Given the description of an element on the screen output the (x, y) to click on. 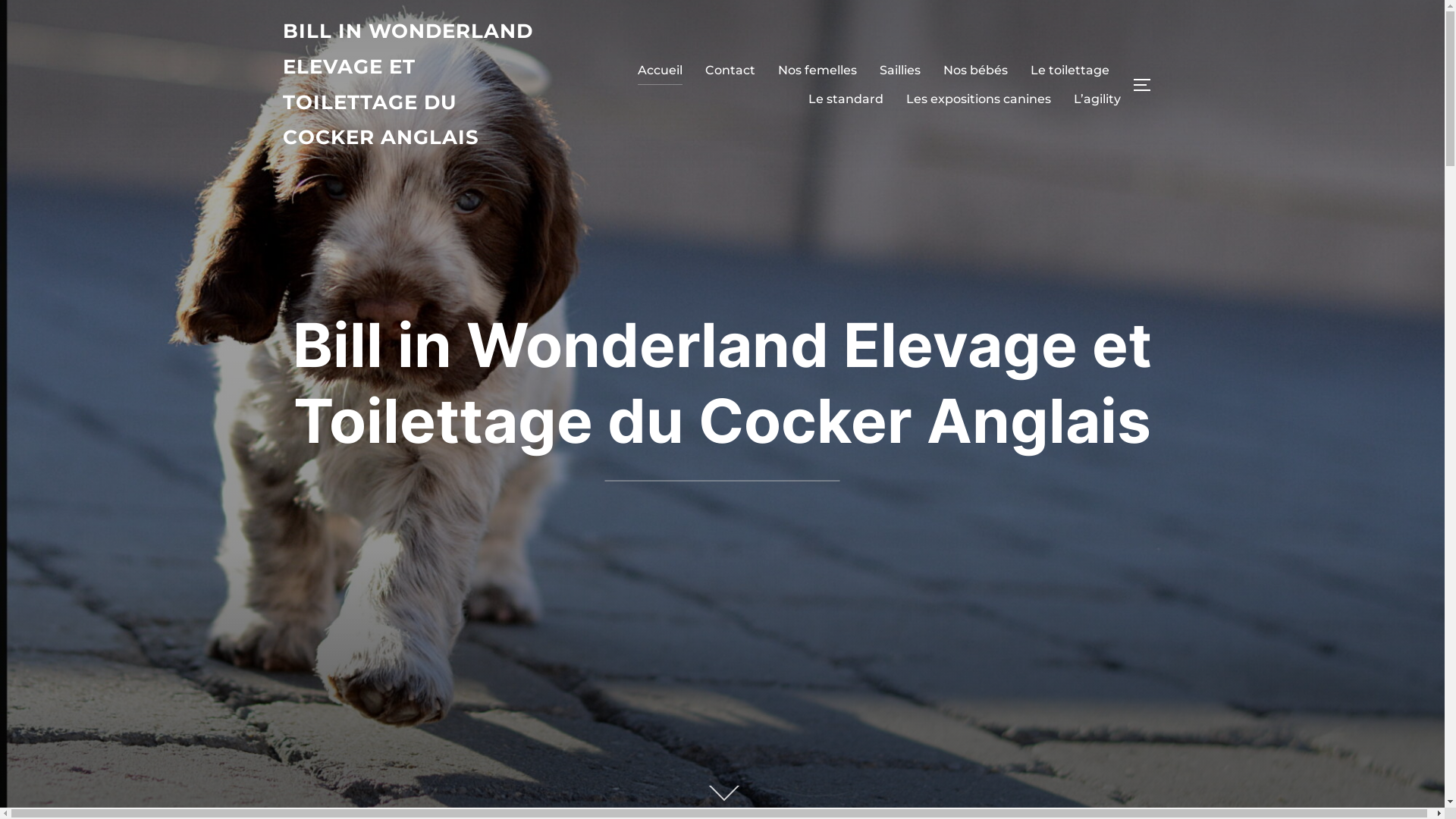
BILL IN WONDERLAND ELEVAGE ET TOILETTAGE DU COCKER ANGLAIS Element type: text (414, 84)
Accueil Element type: text (659, 70)
Nos femelles Element type: text (817, 70)
Saillies Element type: text (899, 70)
Le standard Element type: text (845, 98)
Contact Element type: text (730, 70)
Bill in Wonderland Elevage et Toilettage du Cocker Anglais Element type: text (721, 382)
Les expositions canines Element type: text (977, 98)
Le toilettage Element type: text (1068, 70)
